Given the description of an element on the screen output the (x, y) to click on. 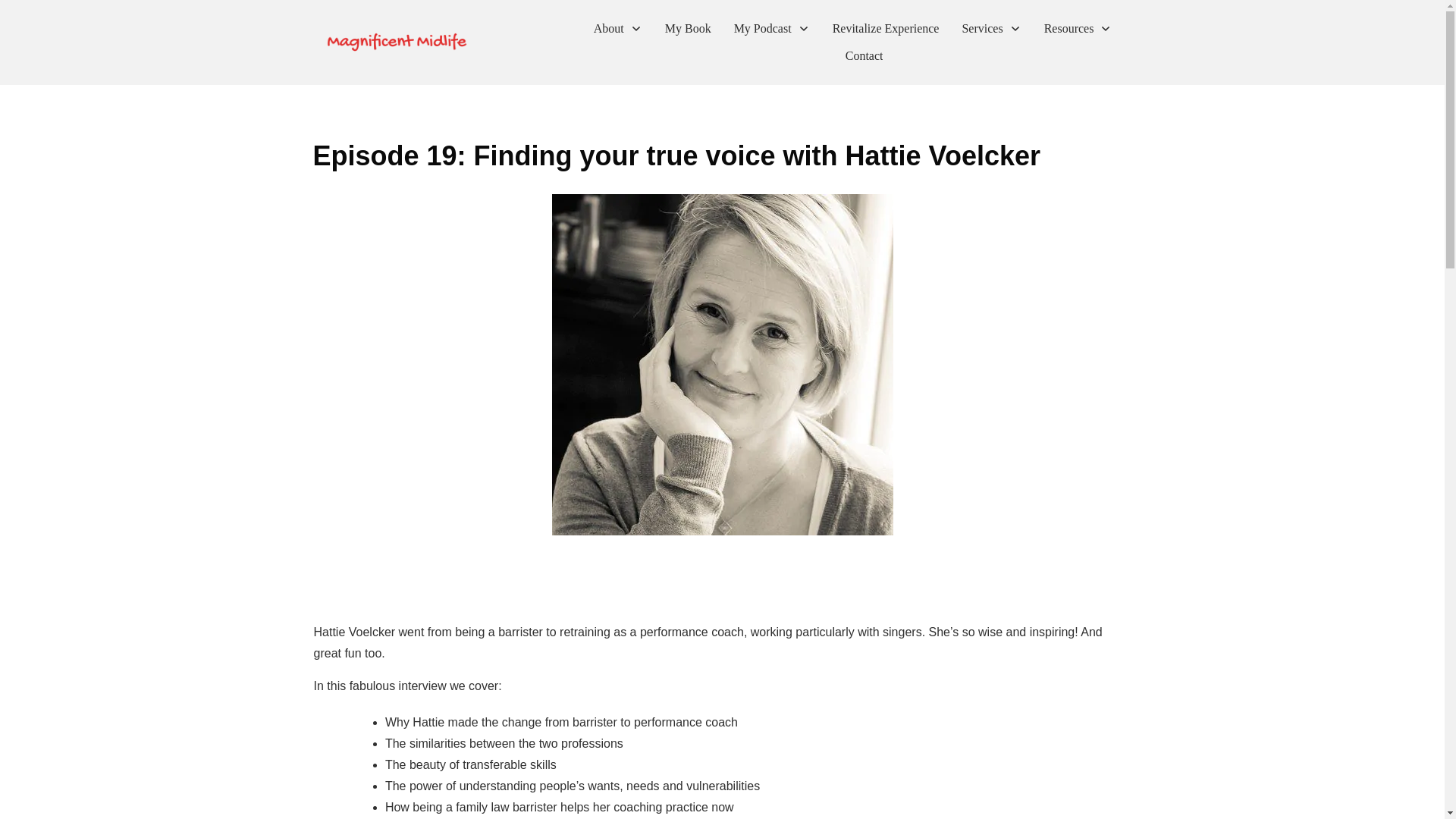
Episode 19: Finding your true voice with Hattie Voelcker (677, 155)
My Book (688, 28)
Episode 19: Finding your true voice with Hattie Voelcker (677, 155)
Services (990, 28)
My Podcast (771, 28)
Resources (1077, 28)
Contact (864, 55)
About (618, 28)
Revitalize Experience (885, 28)
